Given the description of an element on the screen output the (x, y) to click on. 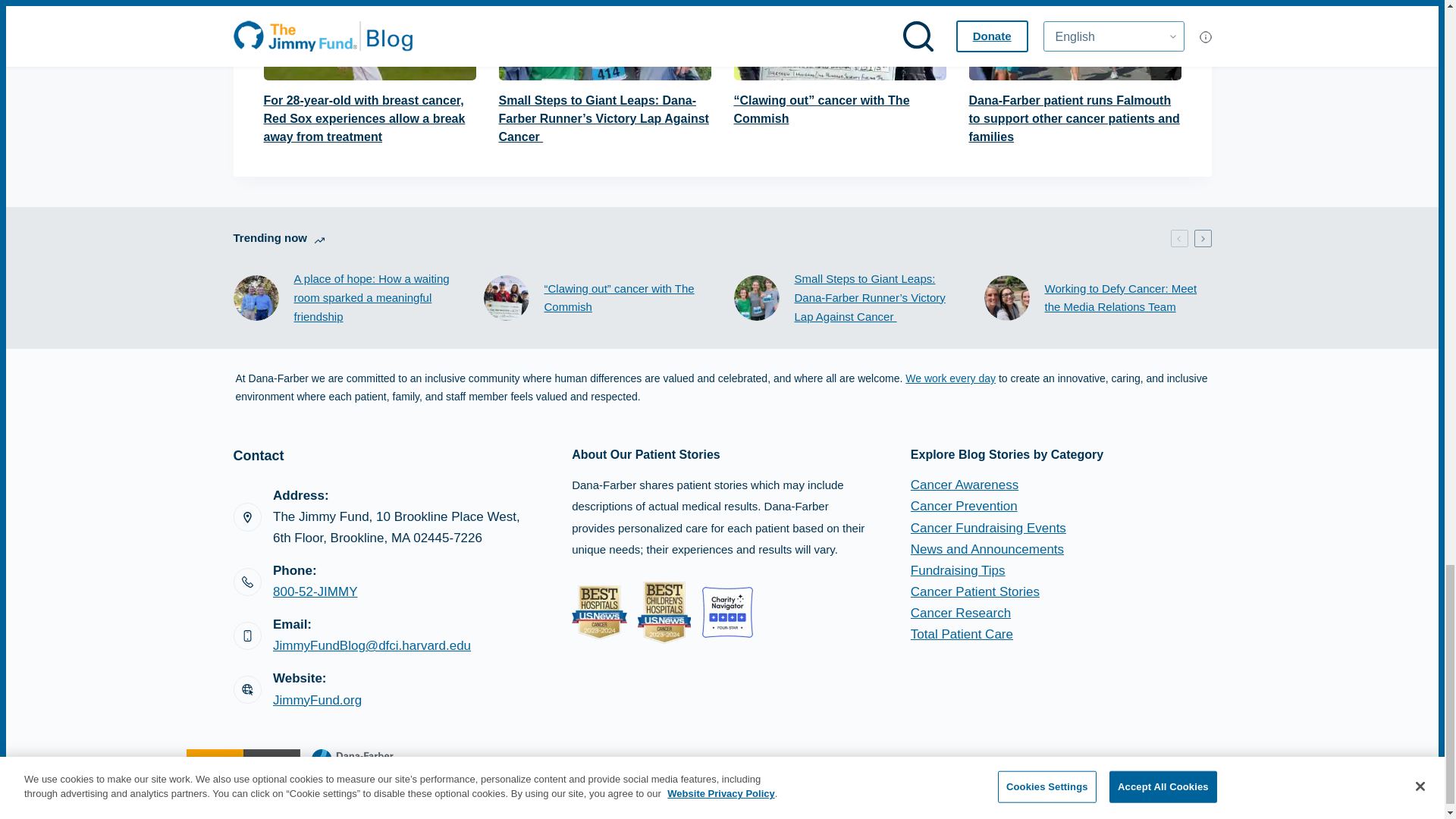
800-52-JIMMY (314, 591)
Working to Defy Cancer: Meet the Media Relations Team (1128, 298)
We work every day (950, 378)
JimmyFund.org (317, 699)
